Given the description of an element on the screen output the (x, y) to click on. 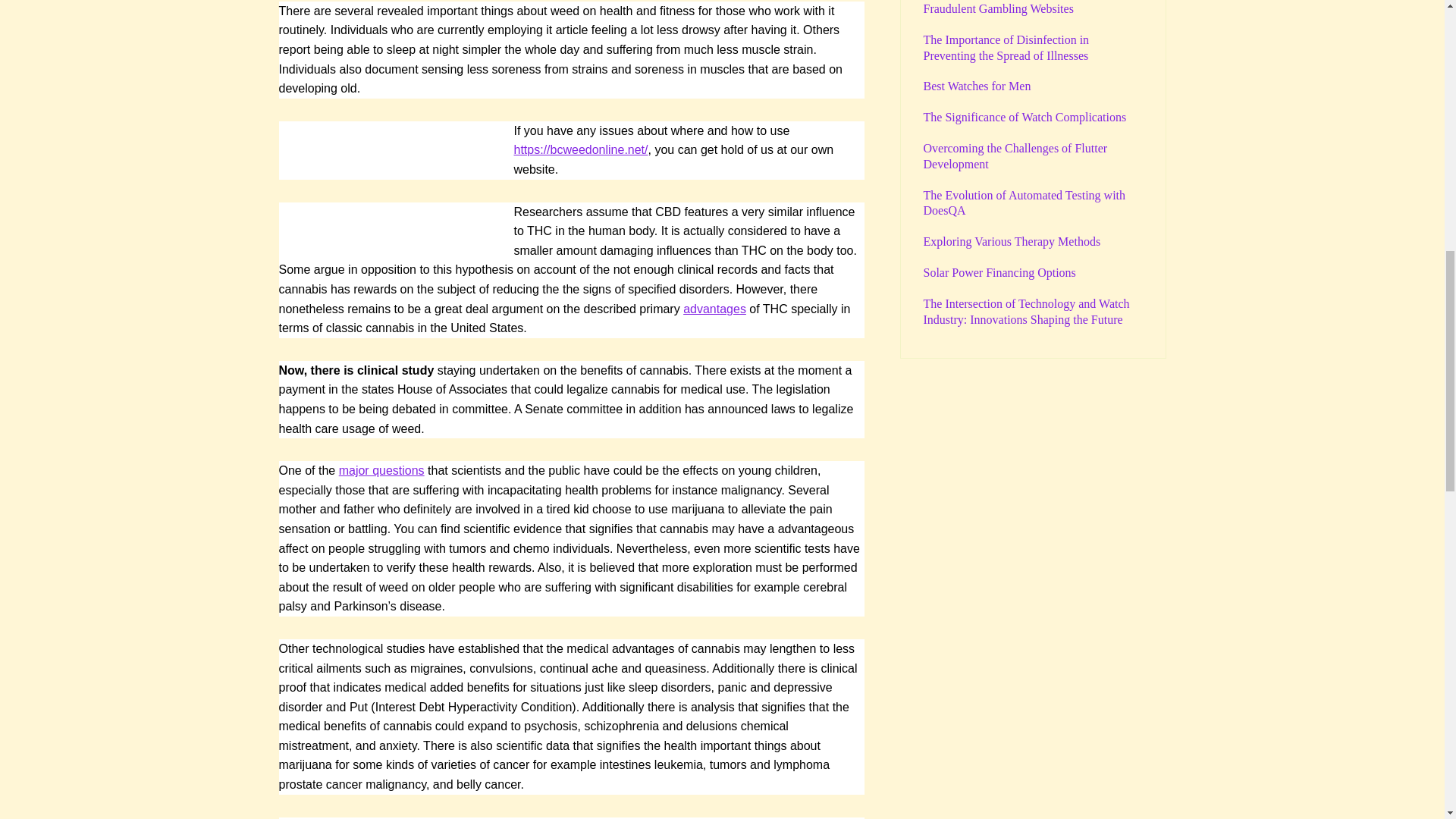
The Significance of Watch Complications (1024, 116)
advantages (713, 308)
major questions (382, 470)
The Evolution of Automated Testing with DoesQA (1024, 203)
Overcoming the Challenges of Flutter Development (1015, 155)
Best Watches for Men (976, 85)
